Given the description of an element on the screen output the (x, y) to click on. 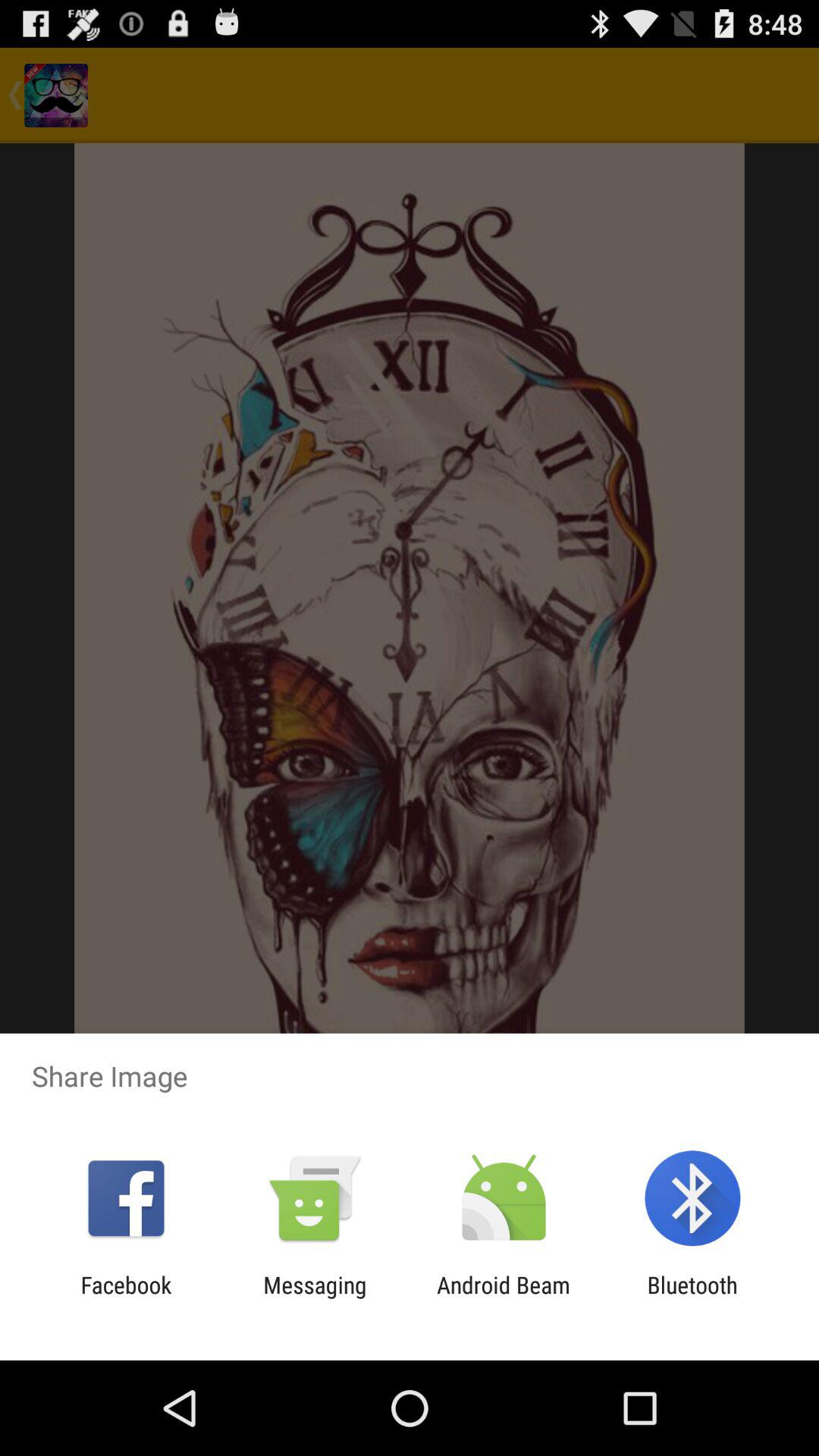
launch the item next to the messaging icon (125, 1298)
